Given the description of an element on the screen output the (x, y) to click on. 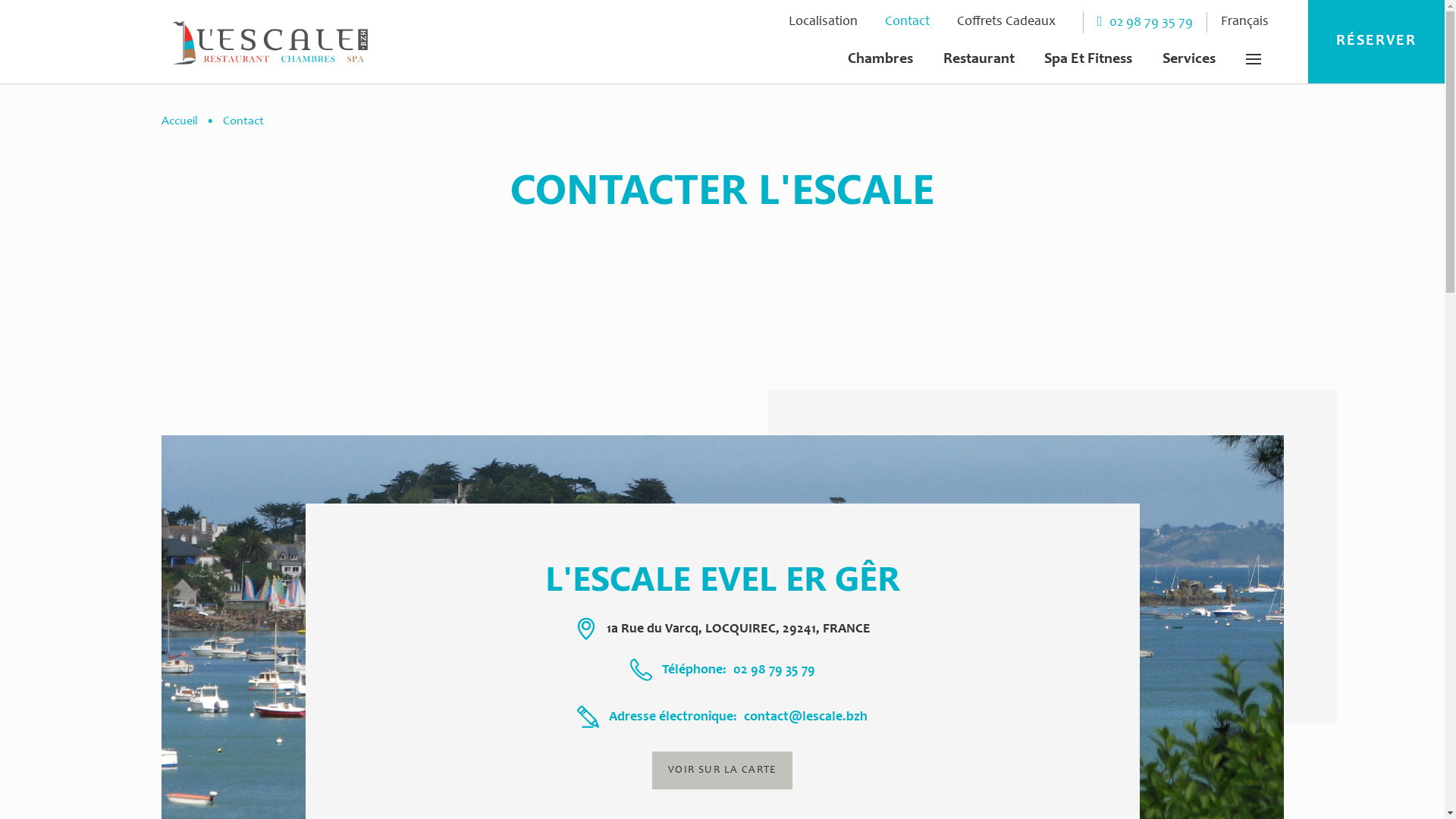
Contact Element type: text (242, 120)
Contact Element type: text (907, 22)
Services Element type: text (1188, 59)
Chambres Element type: text (880, 59)
02 98 79 35 79 Element type: text (773, 670)
Coffrets Cadeaux Element type: text (1006, 22)
VOIR SUR LA CARTE Element type: text (722, 770)
contact@lescale.bzh Element type: text (805, 717)
Restaurant Element type: text (978, 59)
Accueil Element type: text (178, 120)
Localisation Element type: text (823, 22)
02 98 79 35 79 Element type: text (1137, 22)
Spa Et Fitness Element type: text (1088, 59)
